Given the description of an element on the screen output the (x, y) to click on. 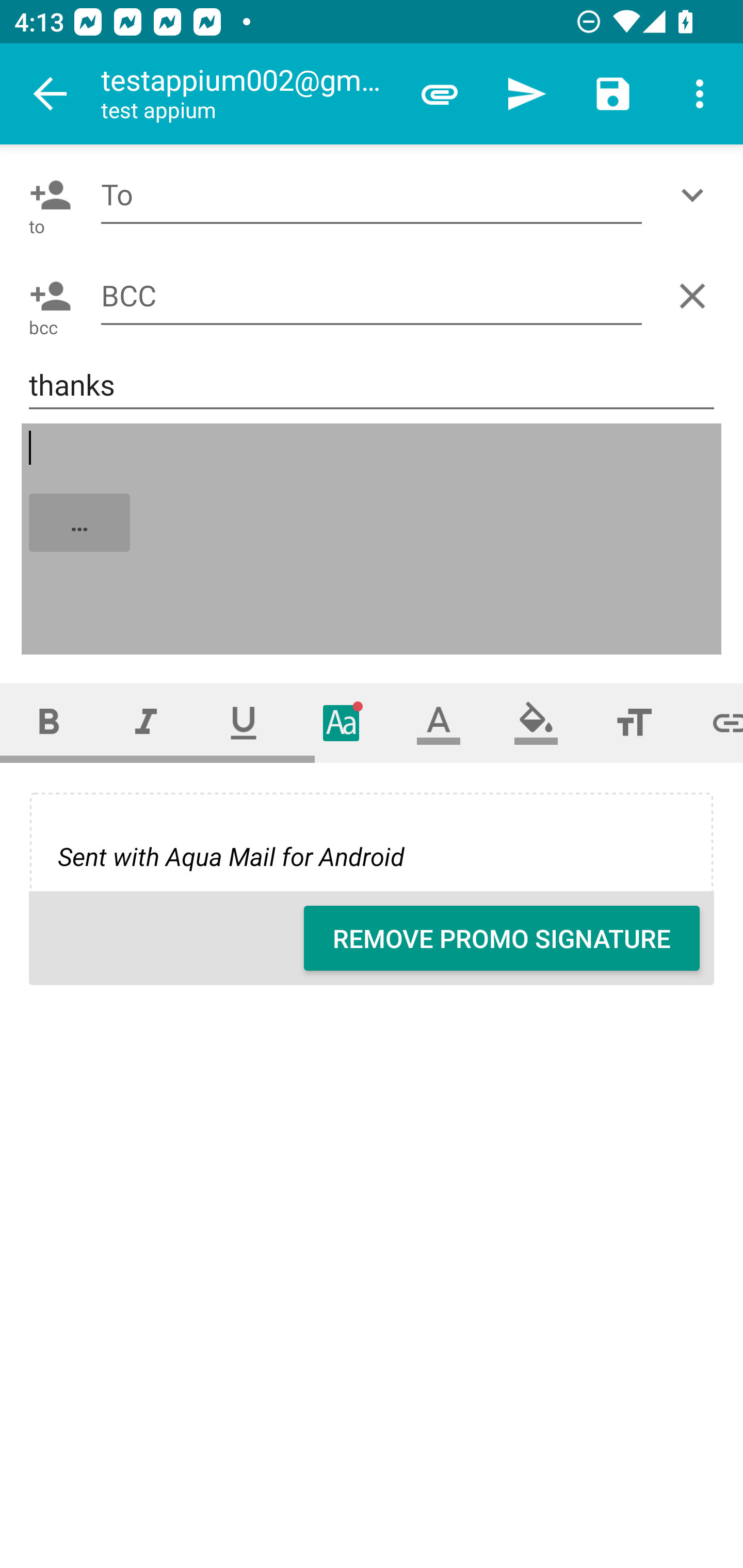
Navigate up (50, 93)
testappium002@gmail.com test appium (248, 93)
Attach (439, 93)
Send (525, 93)
Save (612, 93)
More options (699, 93)
Pick contact: To (46, 195)
Show/Add CC/BCC (696, 195)
To (371, 195)
Pick contact: BCC (46, 296)
Delete (696, 296)
BCC (371, 295)
thanks (371, 384)

…
 (372, 540)
Bold (48, 723)
Italic (145, 723)
Underline (243, 723)
Typeface (font) (341, 723)
Text color (438, 723)
Fill color (536, 723)
Font size (633, 723)
REMOVE PROMO SIGNATURE (501, 938)
